Given the description of an element on the screen output the (x, y) to click on. 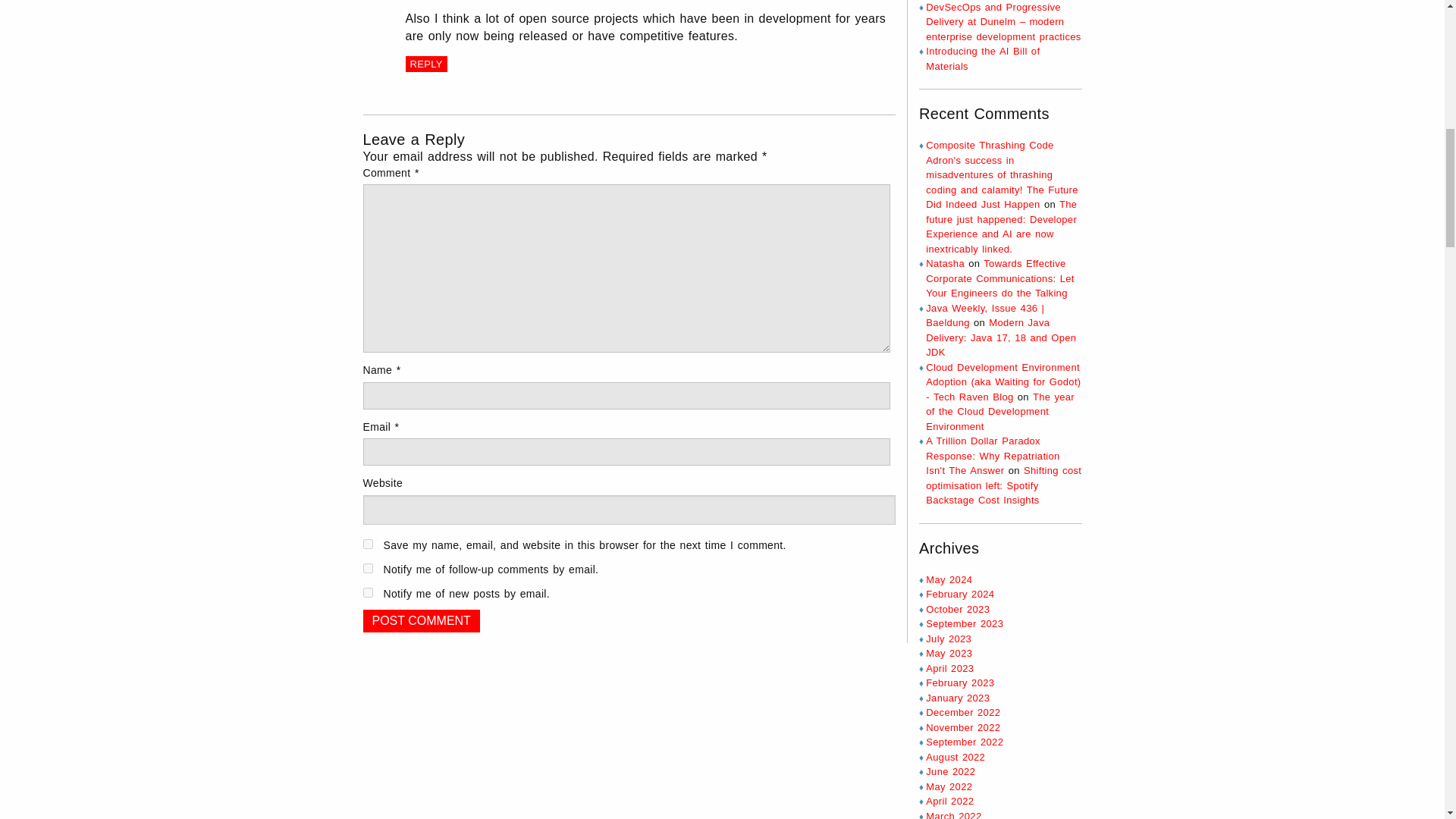
yes (367, 543)
REPLY (425, 64)
subscribe (367, 568)
Post Comment (420, 620)
Post Comment (420, 620)
subscribe (367, 592)
